Given the description of an element on the screen output the (x, y) to click on. 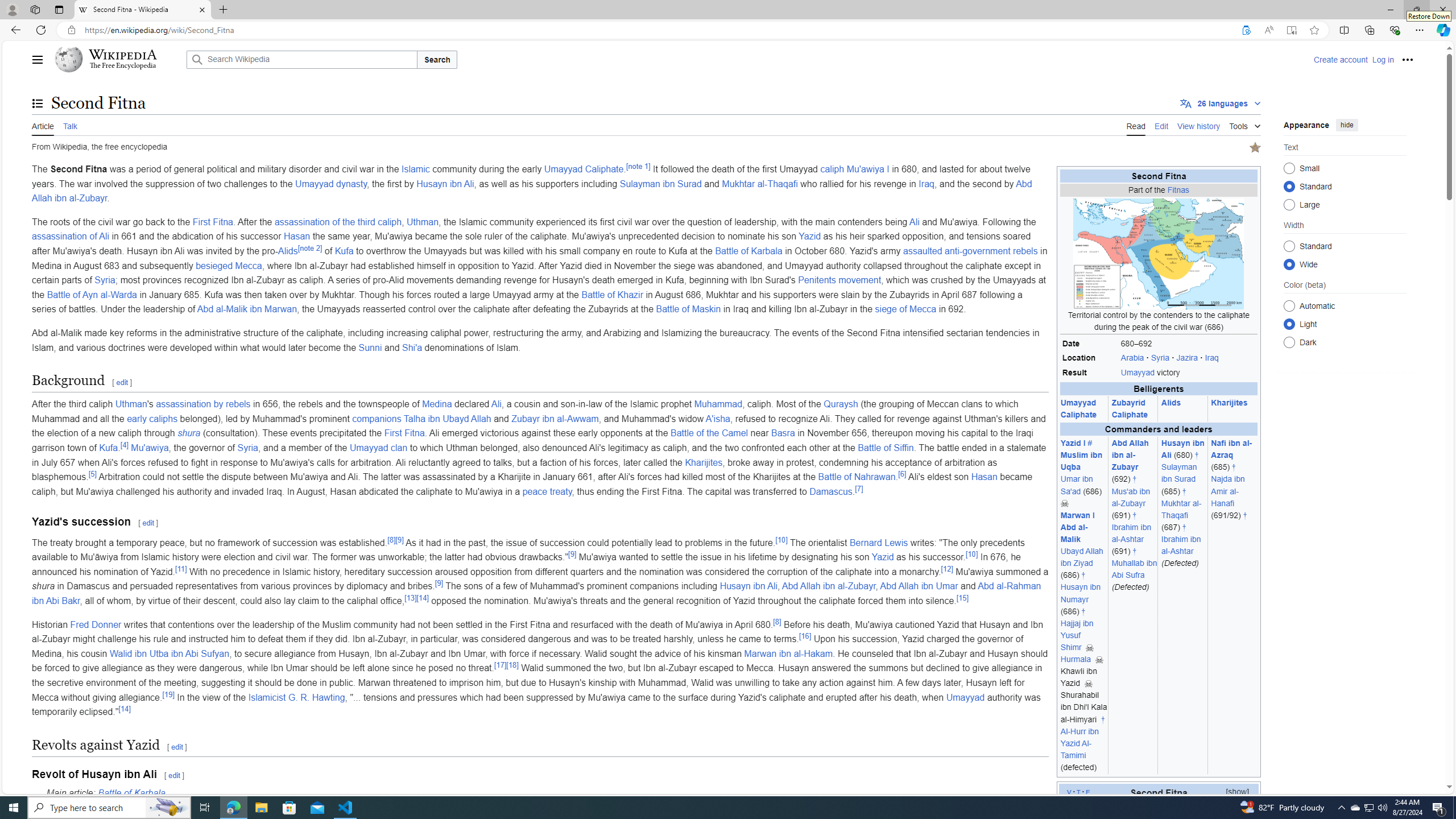
Second Fitna - Wikipedia (142, 9)
